Given the description of an element on the screen output the (x, y) to click on. 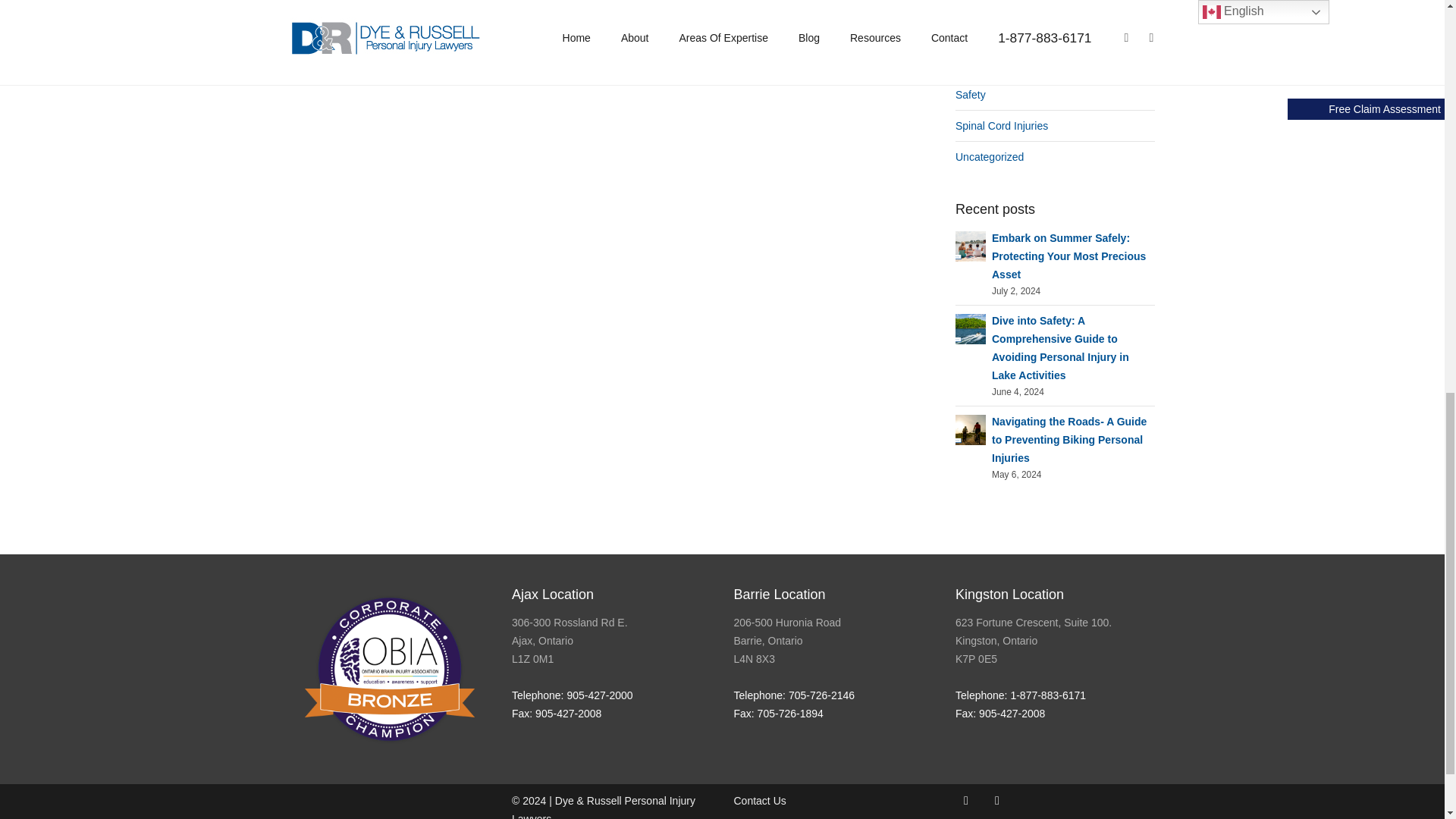
Embark on Summer Safely: Protecting Your Most Precious Asset (970, 244)
Embark on Summer Safely: Protecting Your Most Precious Asset (1068, 255)
